Given the description of an element on the screen output the (x, y) to click on. 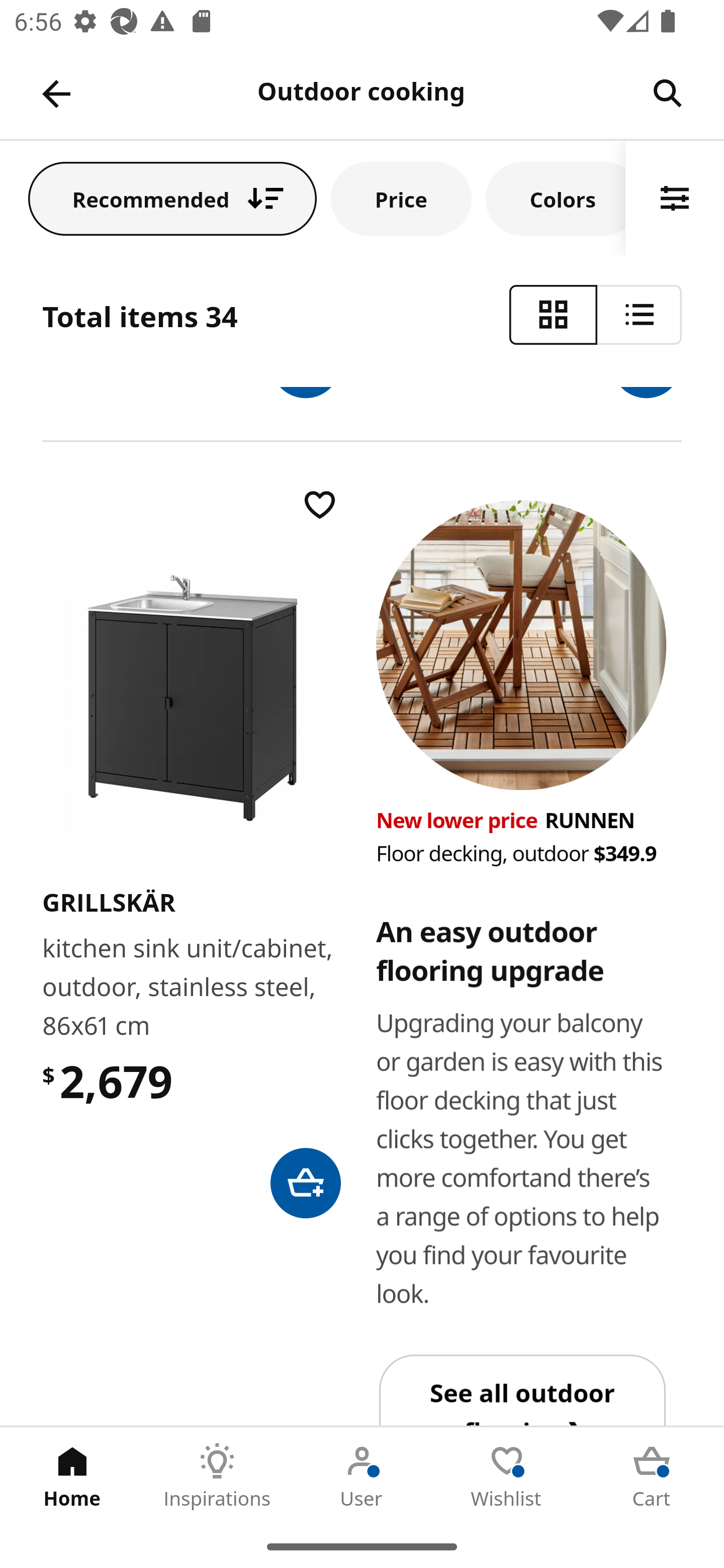
Recommended (172, 198)
Price (400, 198)
Colors (555, 198)
Home
Tab 1 of 5 (72, 1476)
Inspirations
Tab 2 of 5 (216, 1476)
User
Tab 3 of 5 (361, 1476)
Wishlist
Tab 4 of 5 (506, 1476)
Cart
Tab 5 of 5 (651, 1476)
